Given the description of an element on the screen output the (x, y) to click on. 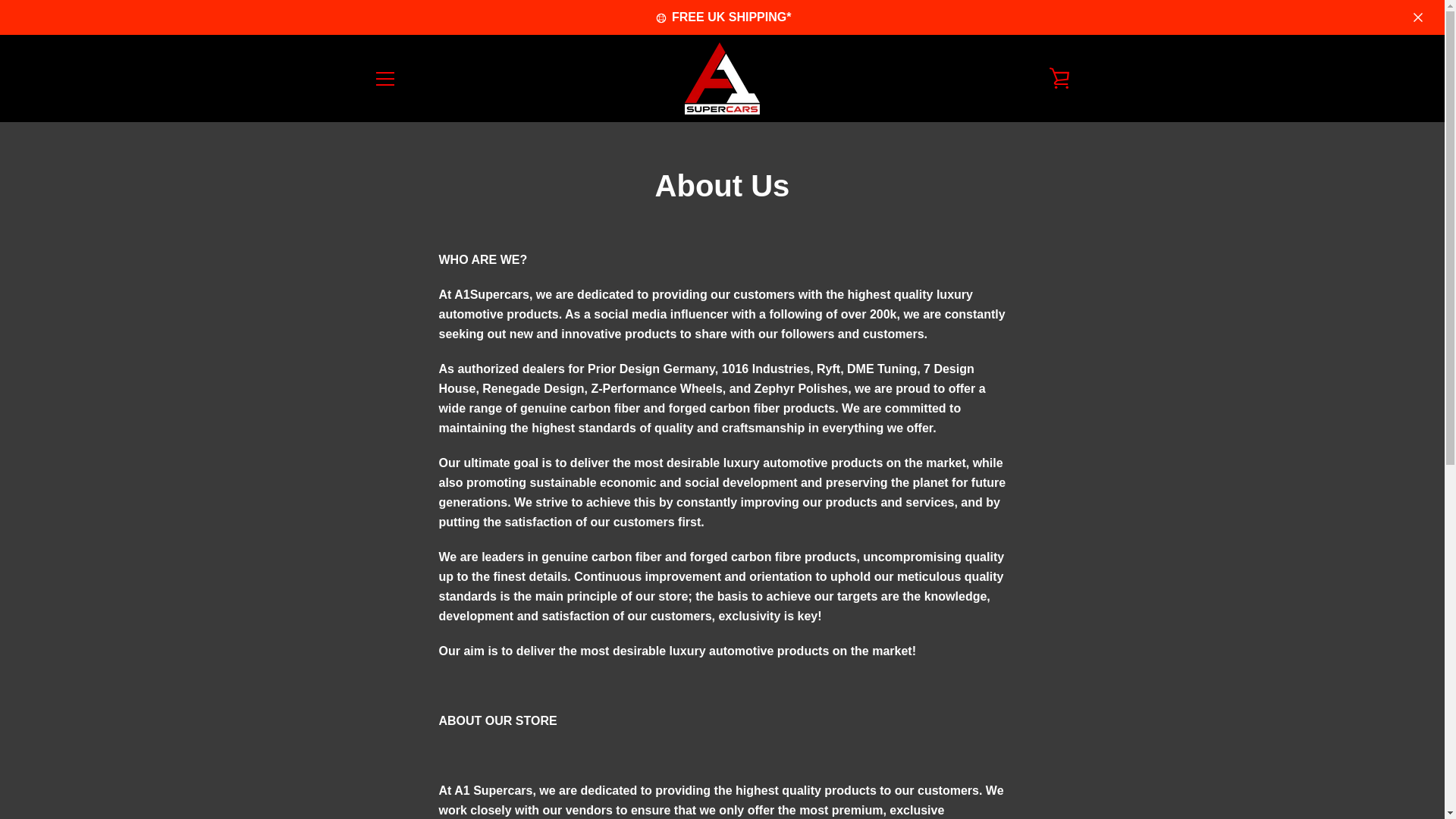
A1 Supercars Limited op Facebook (372, 765)
Mastercard (953, 778)
Discover (988, 755)
Apple Pay (918, 755)
American Express (883, 755)
Union Pay (1022, 778)
A1 Supercars Limited op YouTube (452, 765)
MENU (384, 77)
Shop Pay (988, 778)
Maestro (1057, 755)
Diners Club (953, 755)
Visa (1057, 778)
A1 Supercars Limited op Instagram (424, 765)
A1 Supercars Limited op Twitter (399, 765)
